Given the description of an element on the screen output the (x, y) to click on. 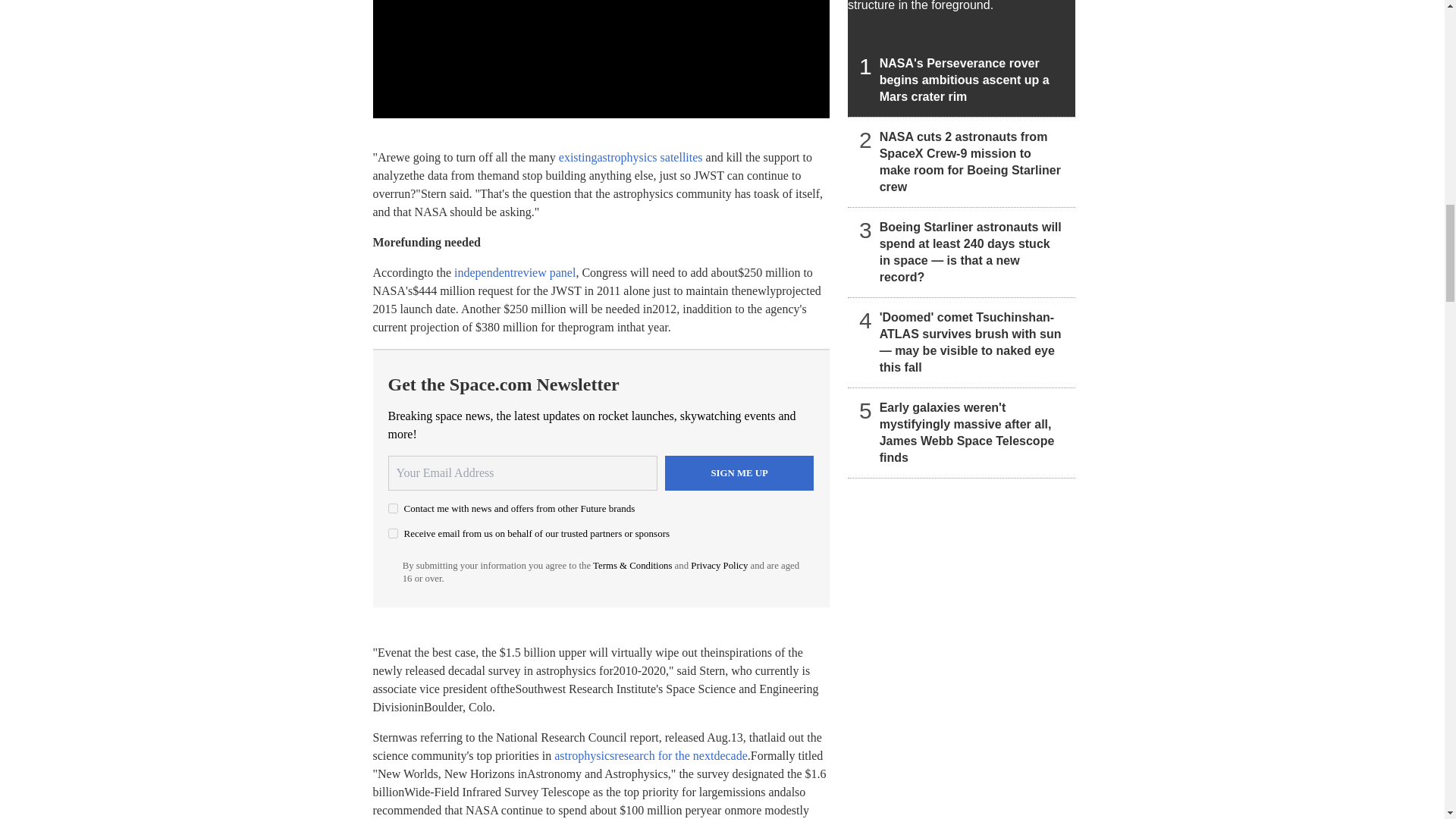
on (392, 508)
Sign me up (739, 472)
on (392, 533)
